Given the description of an element on the screen output the (x, y) to click on. 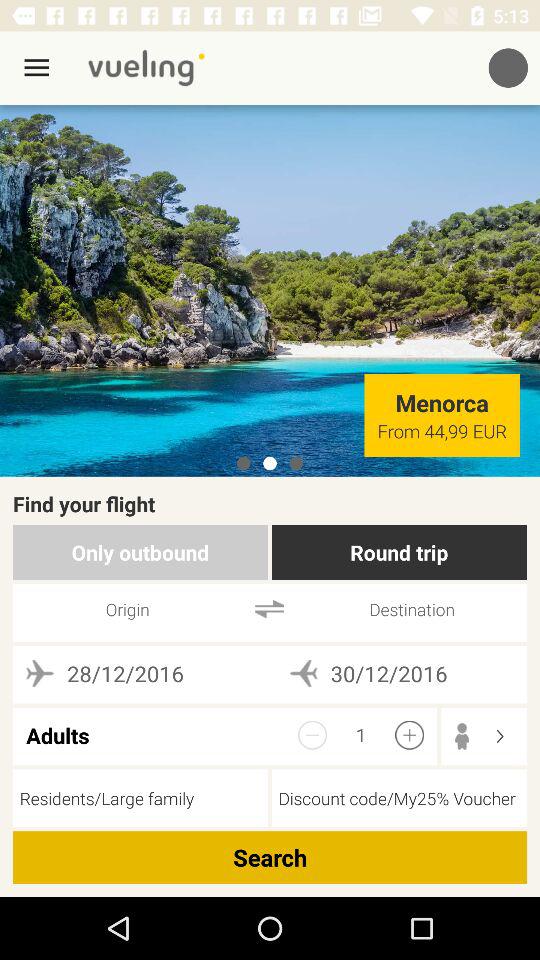
launch the icon to the left of the destination icon (269, 608)
